Given the description of an element on the screen output the (x, y) to click on. 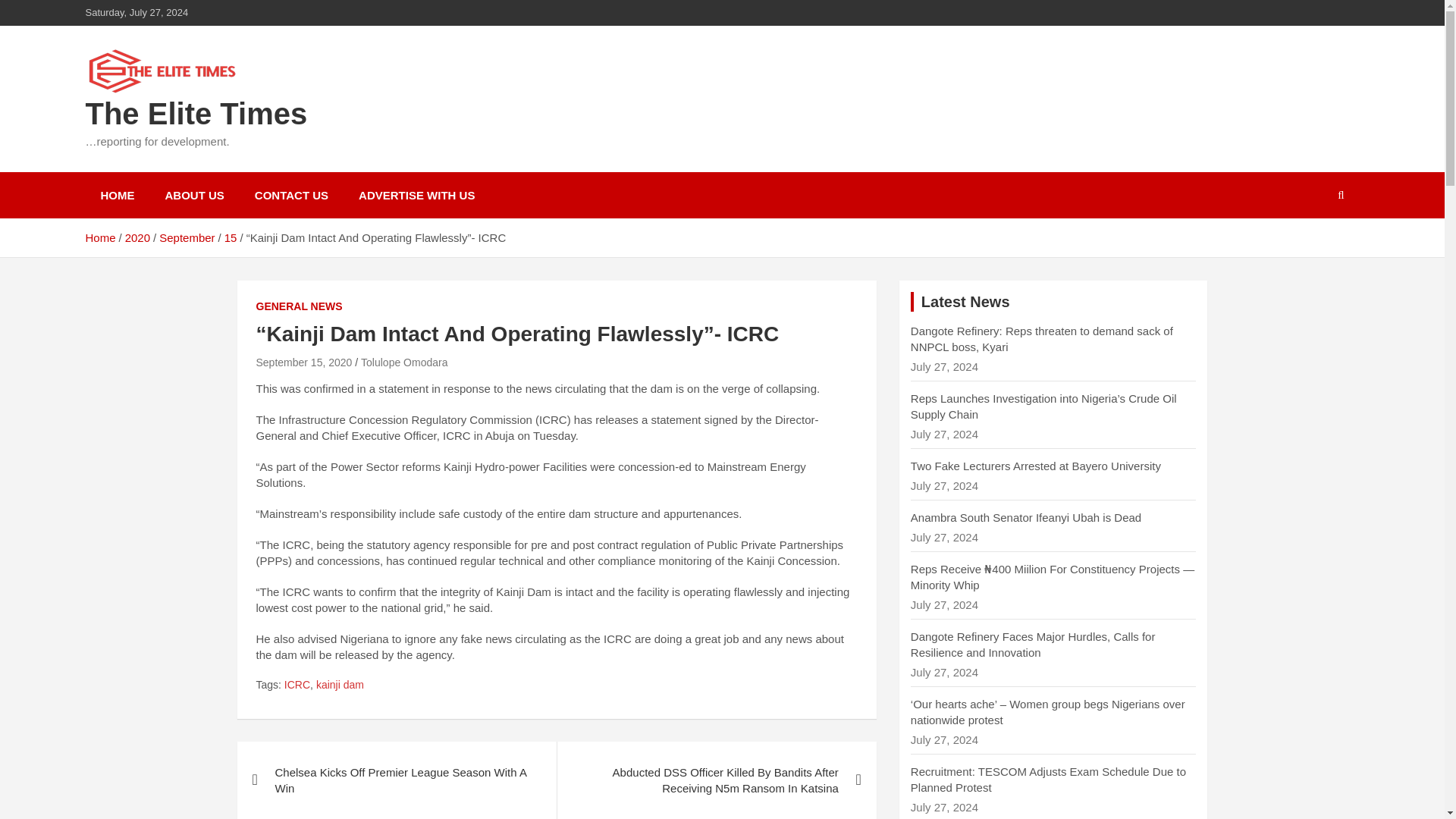
ABOUT US (194, 194)
September 15, 2020 (304, 362)
Chelsea Kicks Off Premier League Season With A Win (395, 780)
Anambra South Senator Ifeanyi Ubah is Dead (1026, 517)
ICRC (296, 685)
CONTACT US (291, 194)
ADVERTISE WITH US (416, 194)
kainji dam (339, 685)
Two Fake Lecturers Arrested at Bayero University (1035, 465)
15 (230, 237)
Home (99, 237)
